Given the description of an element on the screen output the (x, y) to click on. 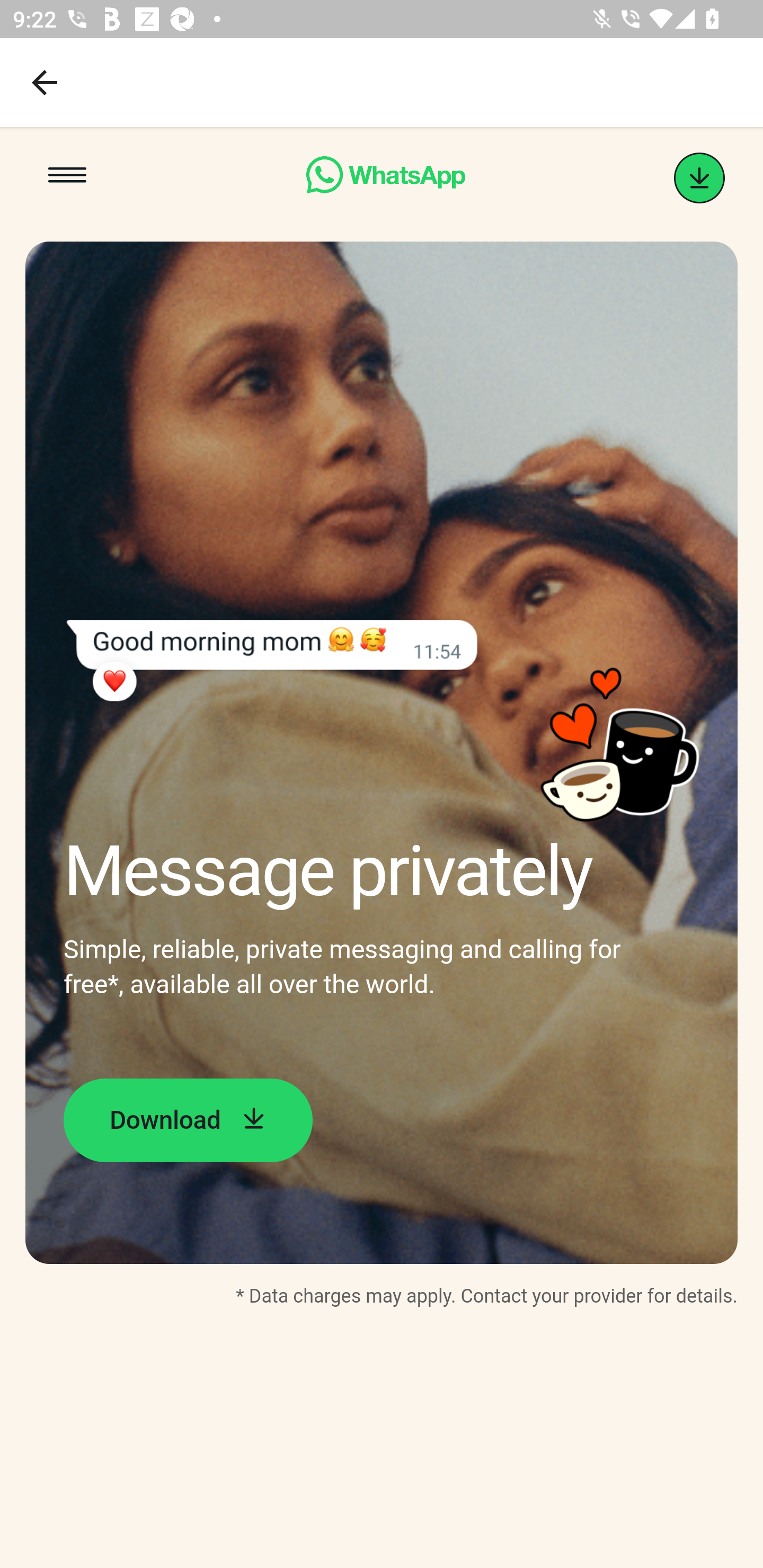
Navigate up (44, 82)
Open mobile menu (67, 177)
details?id=com (698, 177)
WhatsApp Main Page (385, 177)
Download (187, 1120)
